Given the description of an element on the screen output the (x, y) to click on. 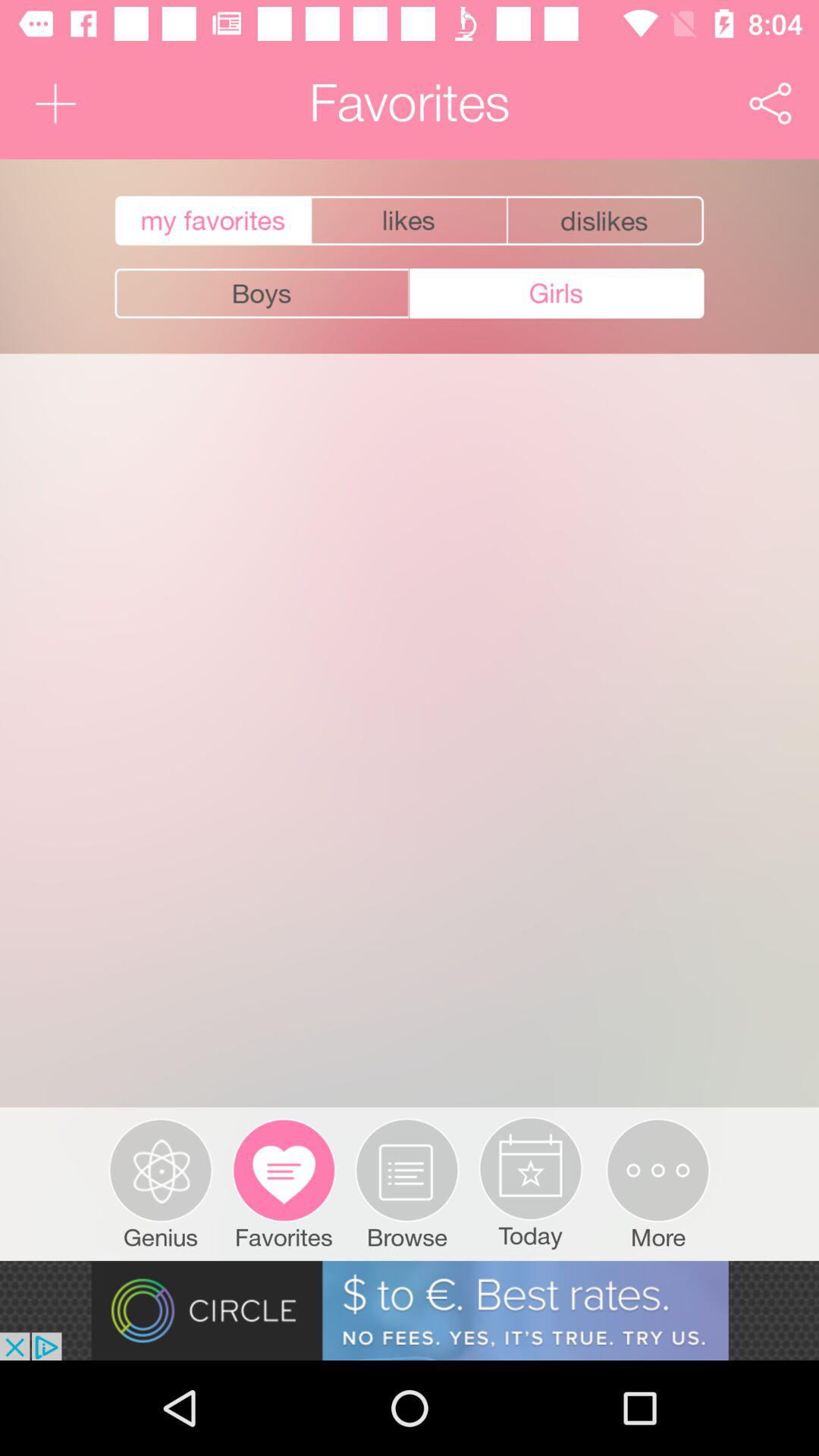
open advertisement (409, 1310)
